Given the description of an element on the screen output the (x, y) to click on. 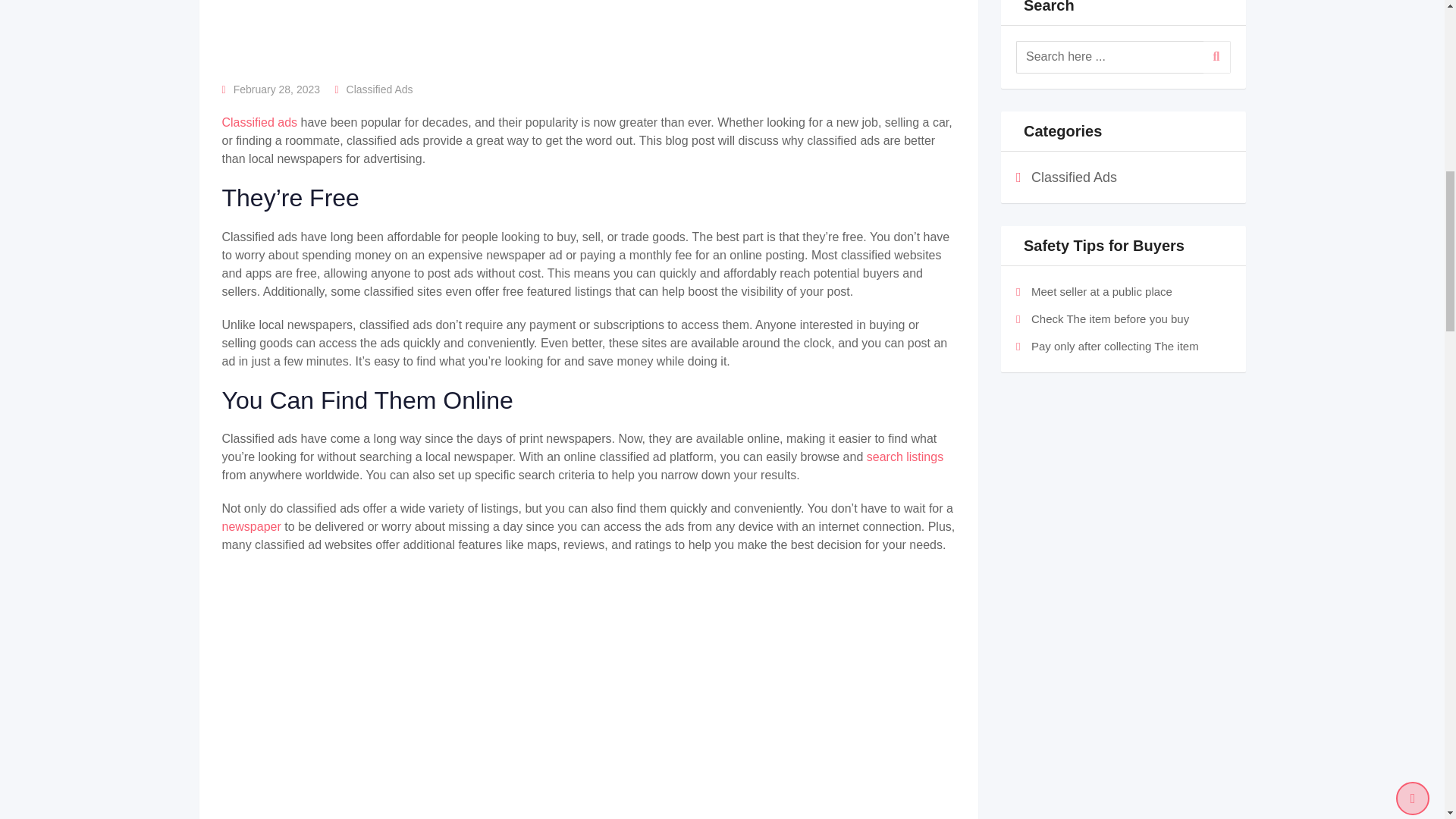
search listings (904, 456)
Classified Ads (379, 89)
newspaper (252, 526)
Classified ads (259, 122)
